Given the description of an element on the screen output the (x, y) to click on. 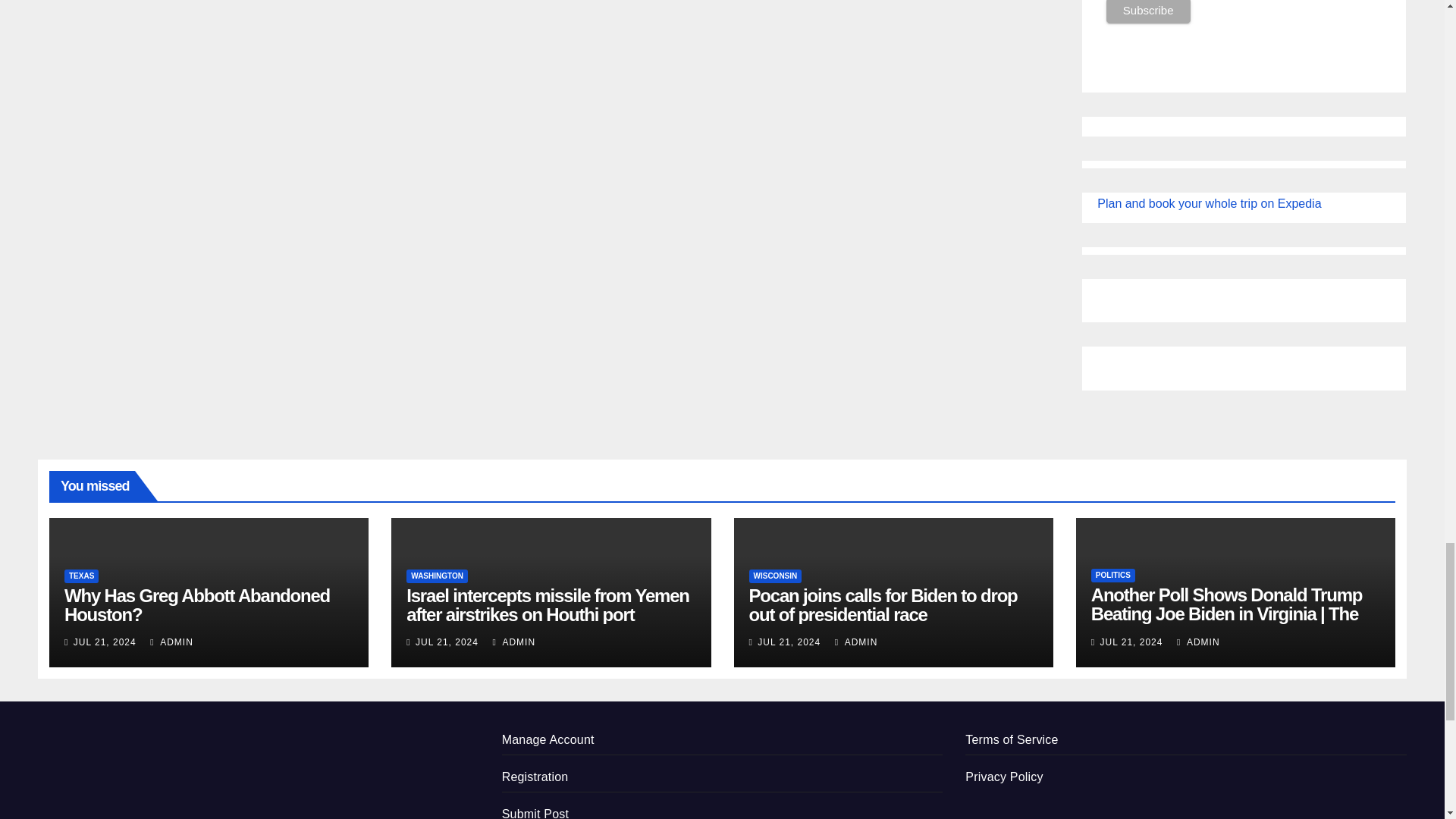
Subscribe (1148, 11)
